Given the description of an element on the screen output the (x, y) to click on. 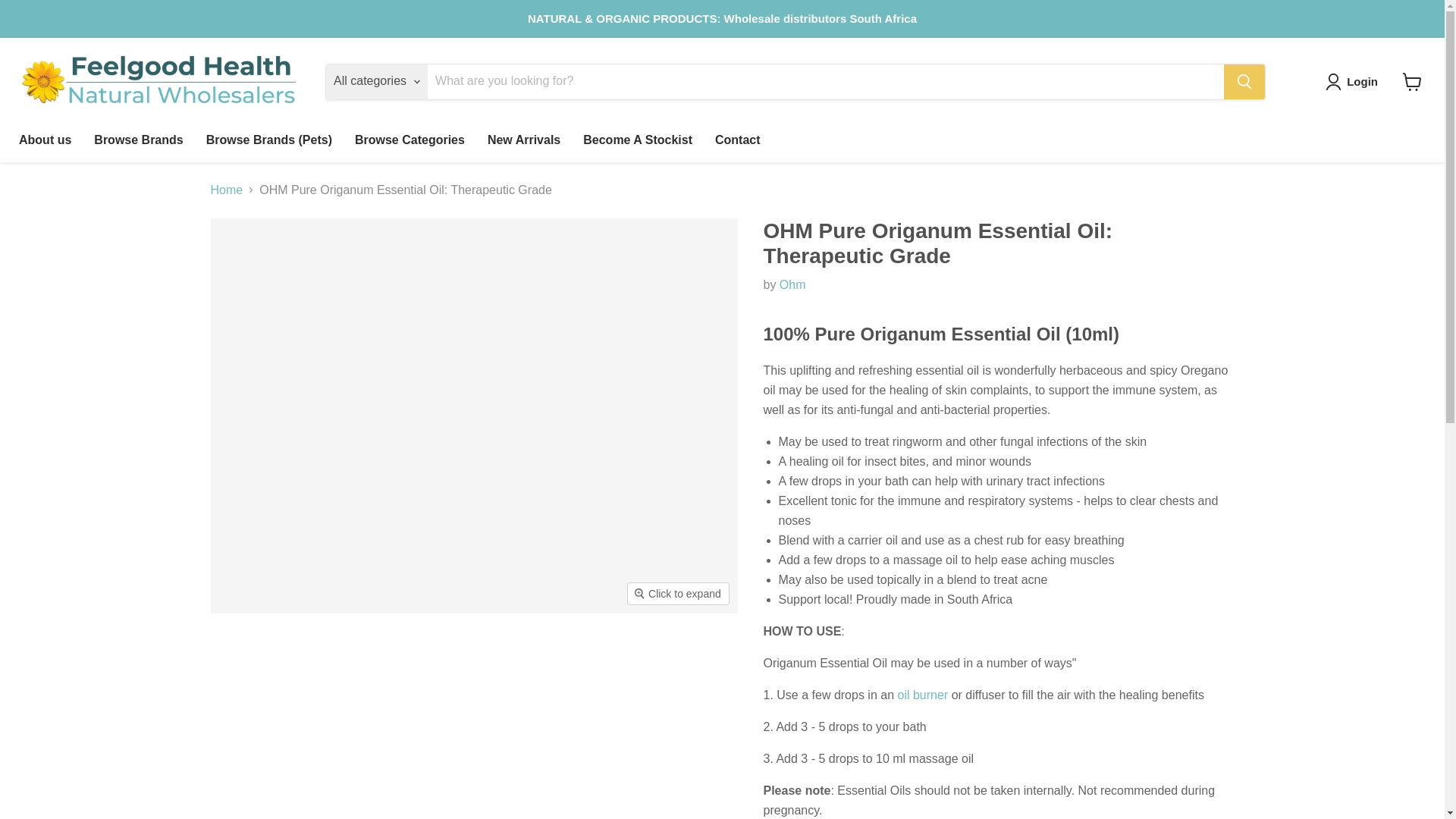
oil burner (923, 694)
Ohm (792, 284)
Home (227, 190)
View cart (1411, 81)
Browse Brands (137, 140)
Contact (737, 140)
About us (44, 140)
Login (1354, 81)
New Arrivals (524, 140)
Become A Stockist (637, 140)
